Given the description of an element on the screen output the (x, y) to click on. 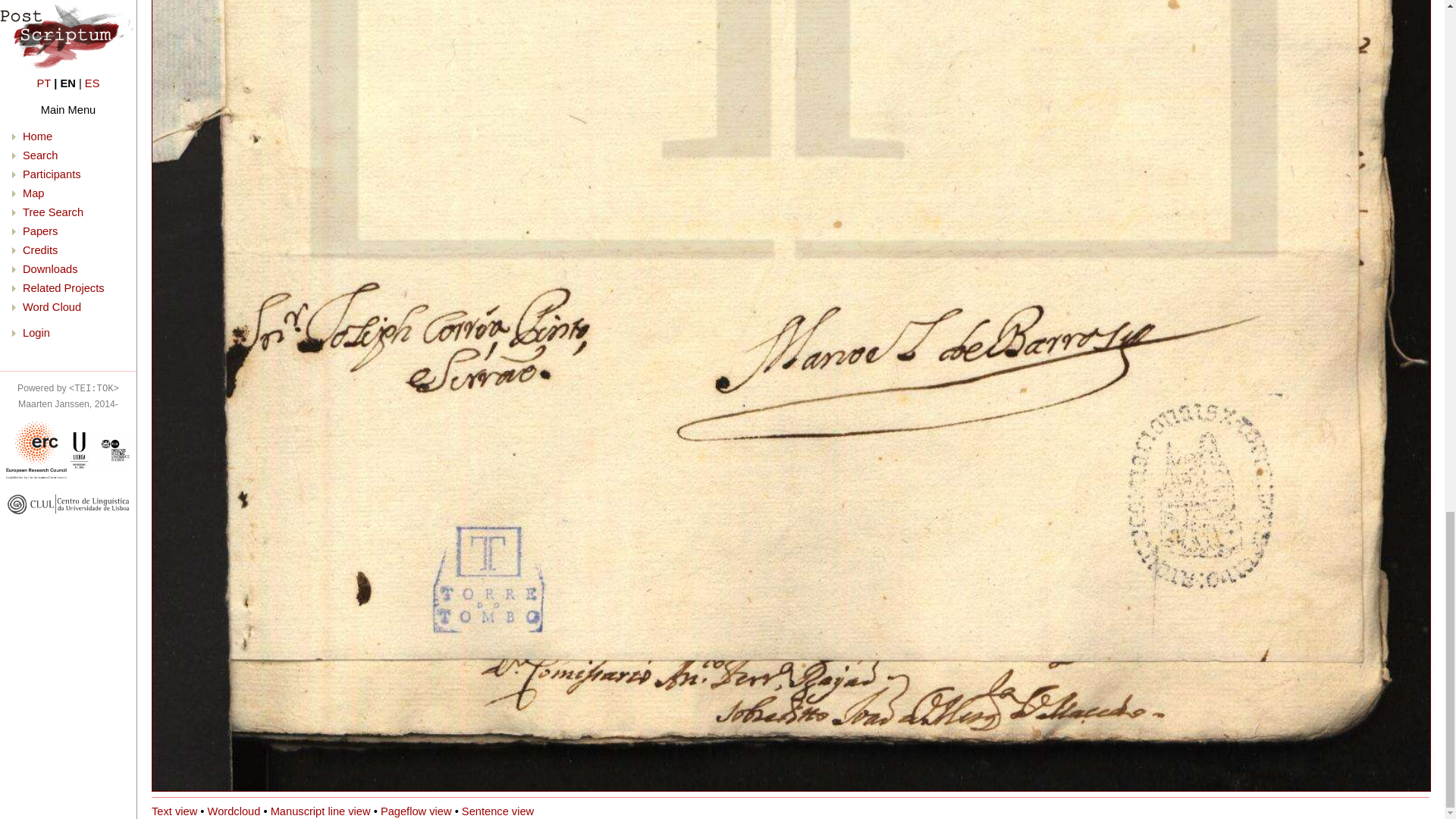
Text view (173, 811)
Manuscript line view (320, 811)
Pageflow view (415, 811)
Sentence view (497, 811)
Wordcloud (234, 811)
